Given the description of an element on the screen output the (x, y) to click on. 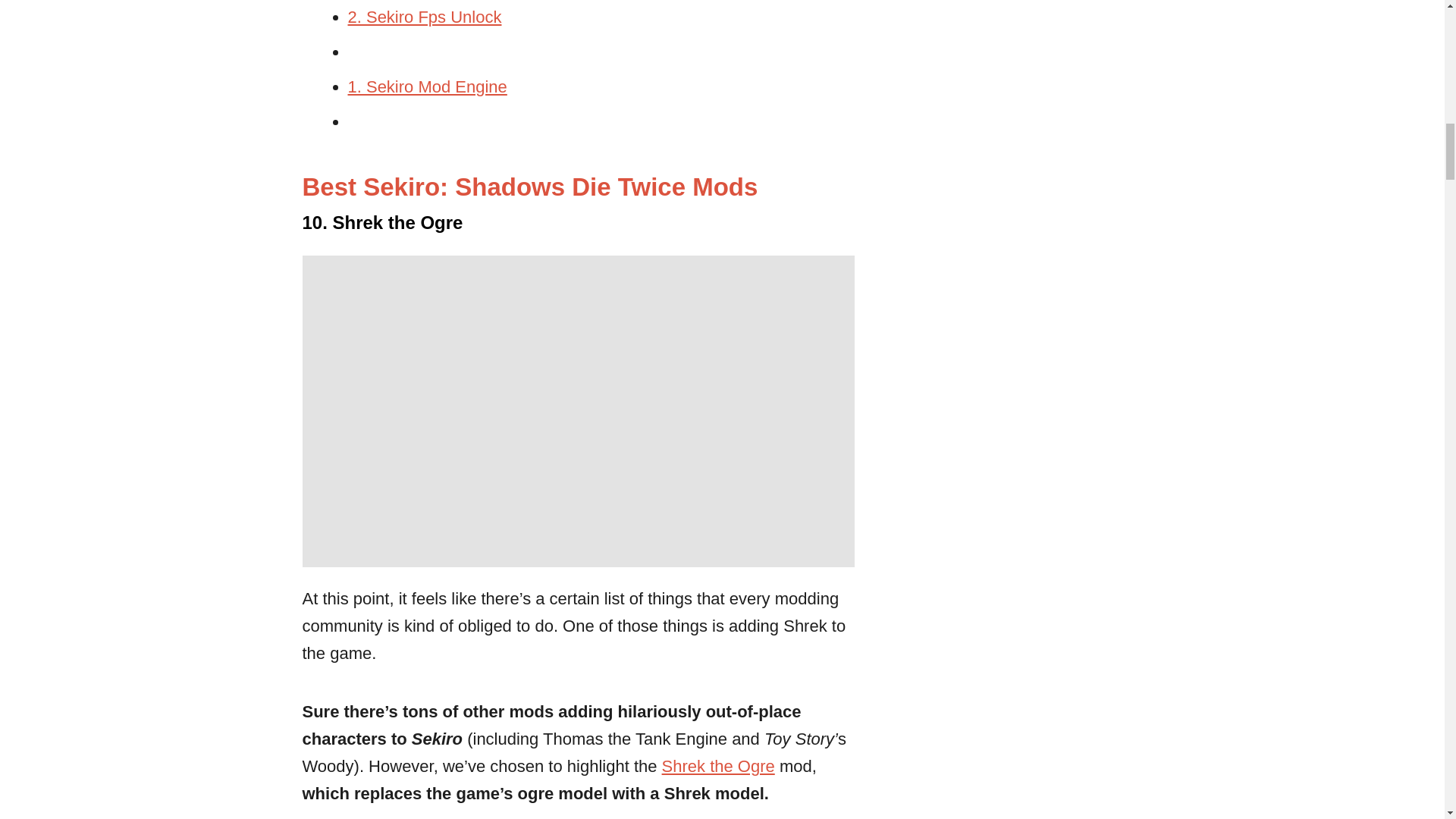
1. Sekiro Mod Engine (426, 86)
Shrek the Ogre (718, 765)
2. Sekiro Fps Unlock (423, 16)
